Given the description of an element on the screen output the (x, y) to click on. 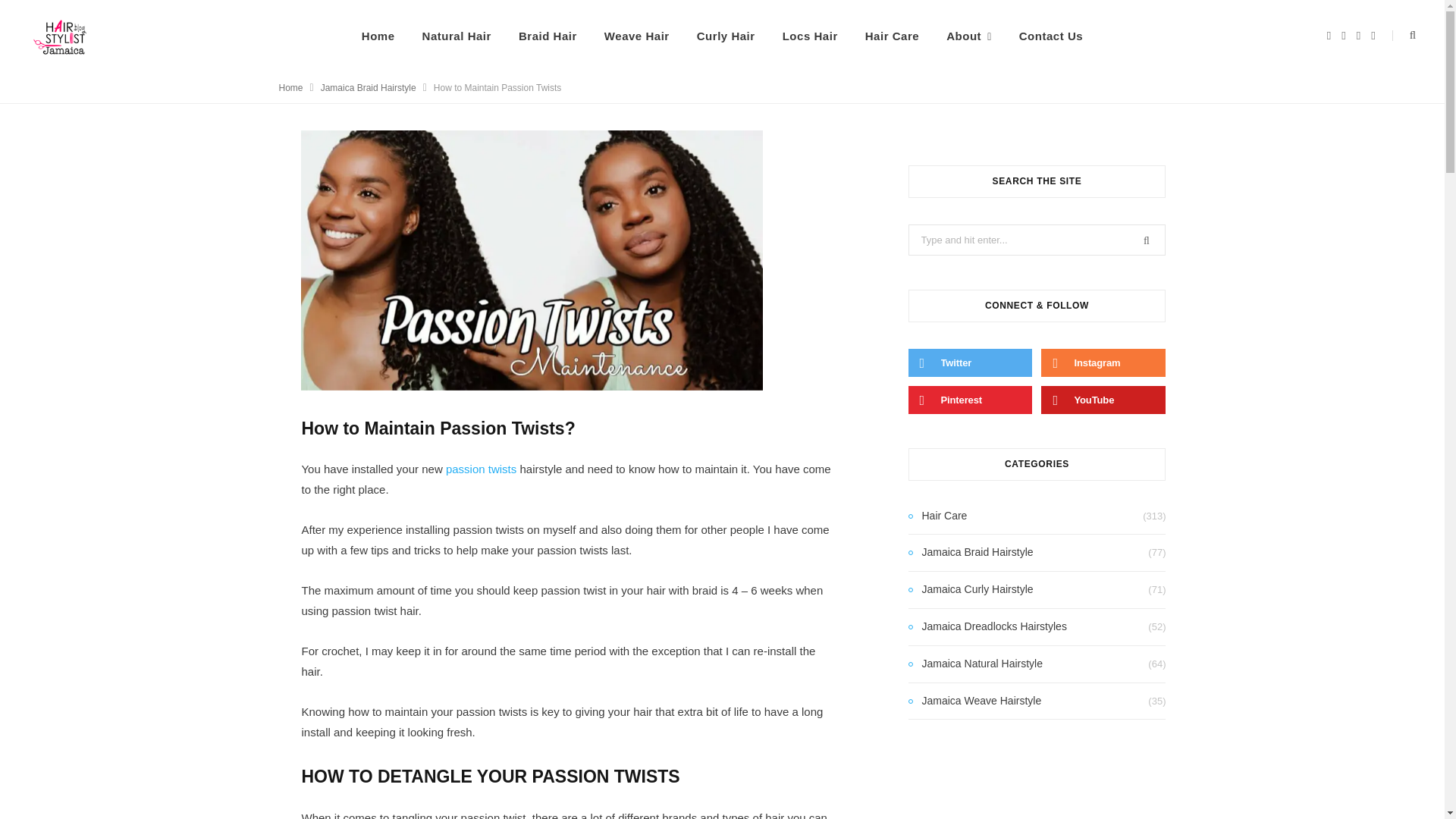
Jamaica Braid Hairstyle (368, 87)
passion twists (480, 468)
Locs Hair (809, 36)
Home (290, 87)
Natural Hair (457, 36)
About (969, 36)
Contact Us (1051, 36)
Curly Hair (725, 36)
Hair Care (892, 36)
Braid Hair (548, 36)
